Given the description of an element on the screen output the (x, y) to click on. 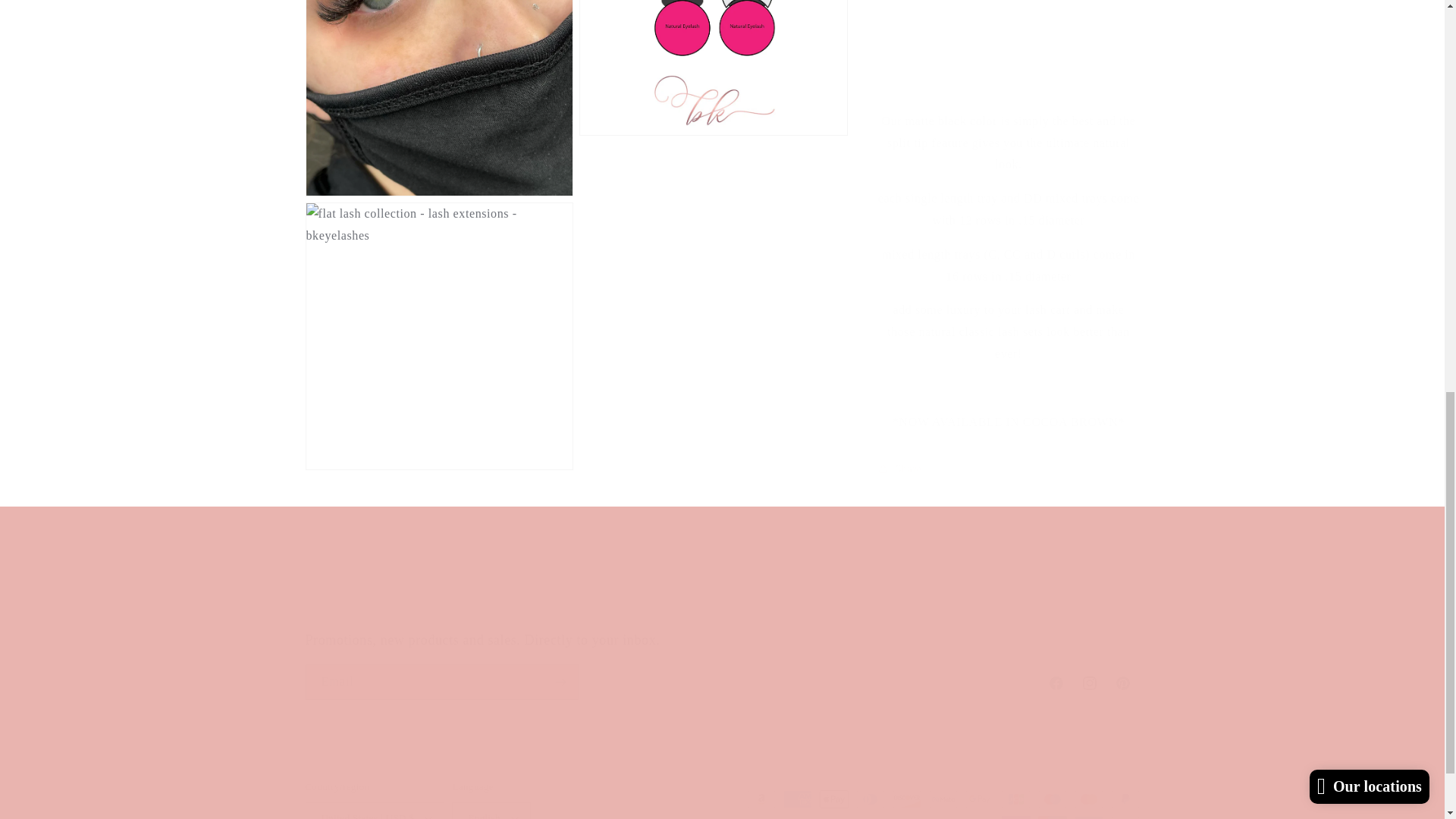
Open media 4 in modal (721, 578)
Open media 3 in modal (438, 321)
Open media 2 in modal (721, 594)
